Given the description of an element on the screen output the (x, y) to click on. 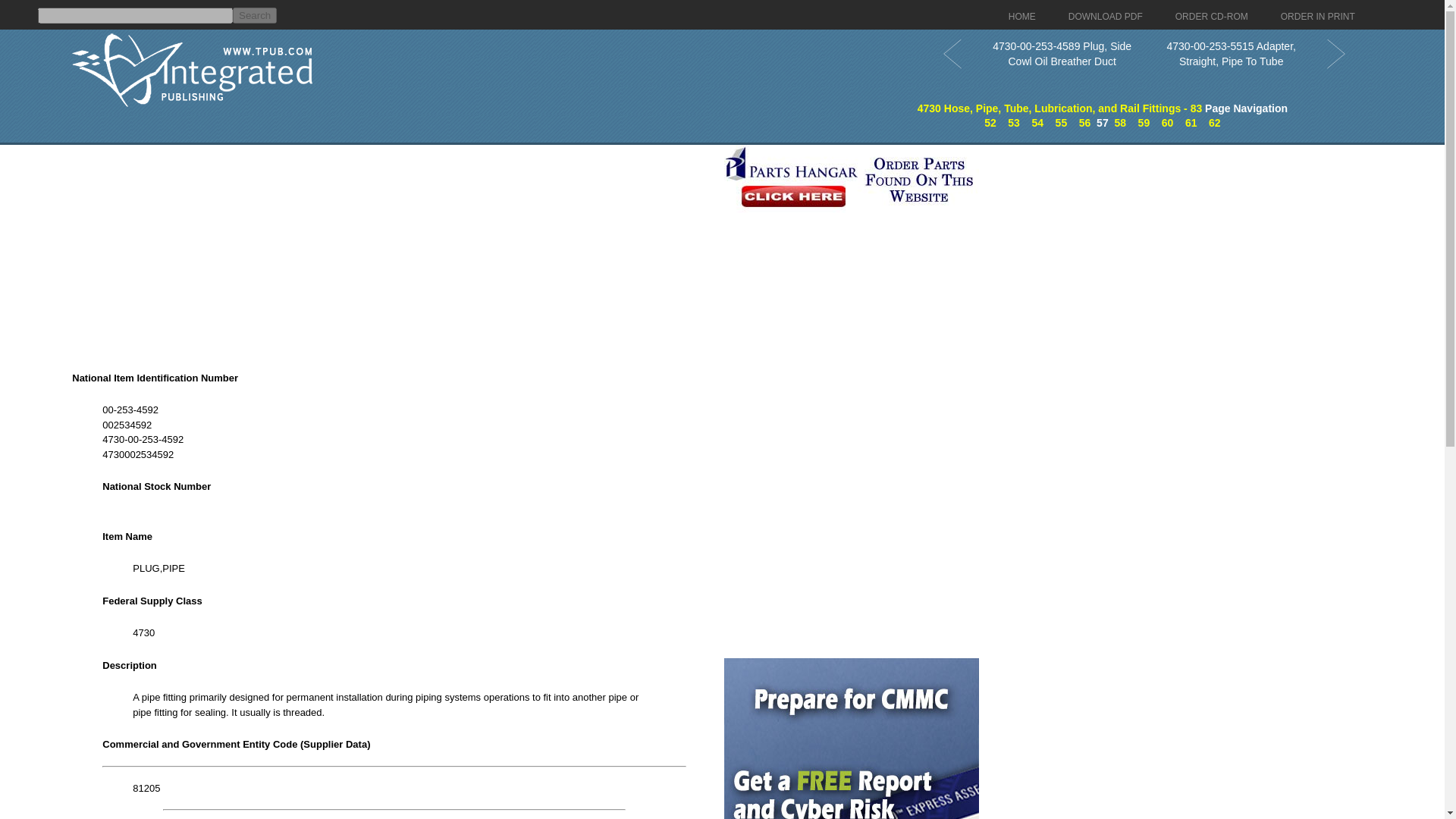
58 (1119, 122)
56 (1084, 122)
53 (1013, 122)
4730-00-253-4589 Plug, Side Cowl Oil Breather Duct (1084, 122)
4730-00-253-4430 Elbow, Pipe (989, 122)
4730-00-253-5515 Adapter, Straight, Pipe To Tube (1230, 53)
55 (1061, 122)
4730 Hose, Pipe, Tube, Lubrication, and Rail Fittings - 83 (1059, 115)
4730-00-253-4433 Elbow, Pipe (1061, 122)
61 (1190, 122)
4730-00-253-5515 Adapter, Straight, Pipe To Tube (1119, 122)
Search (254, 15)
52 (989, 122)
HOME (1022, 16)
